Given the description of an element on the screen output the (x, y) to click on. 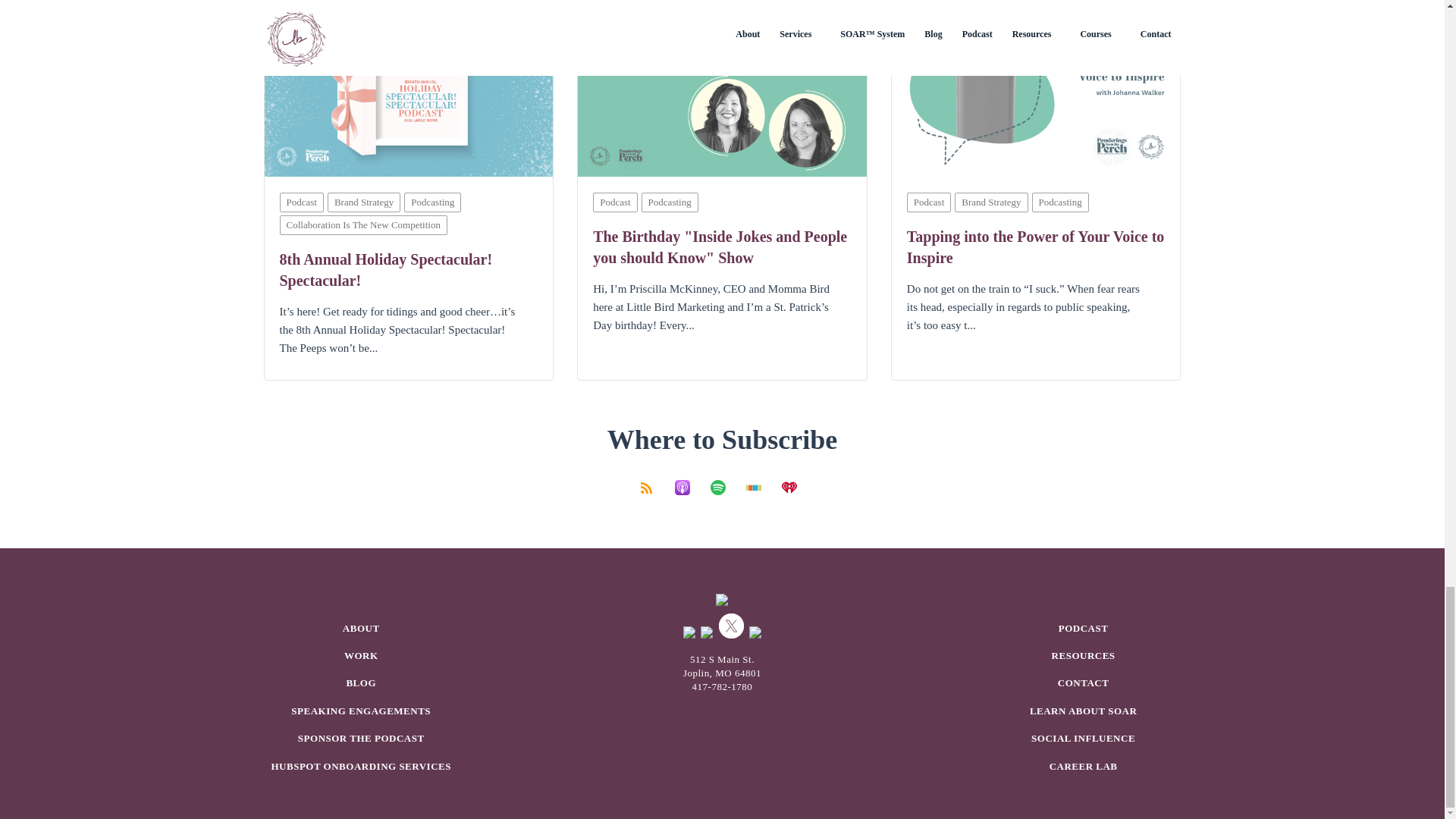
Subscribe via Spotify (724, 485)
Subscribe via iHeart (793, 485)
Subscribe via RSS (652, 485)
Subscribe via Apple Podcasts (687, 485)
Subscribe via Stitcher (759, 485)
